Given the description of an element on the screen output the (x, y) to click on. 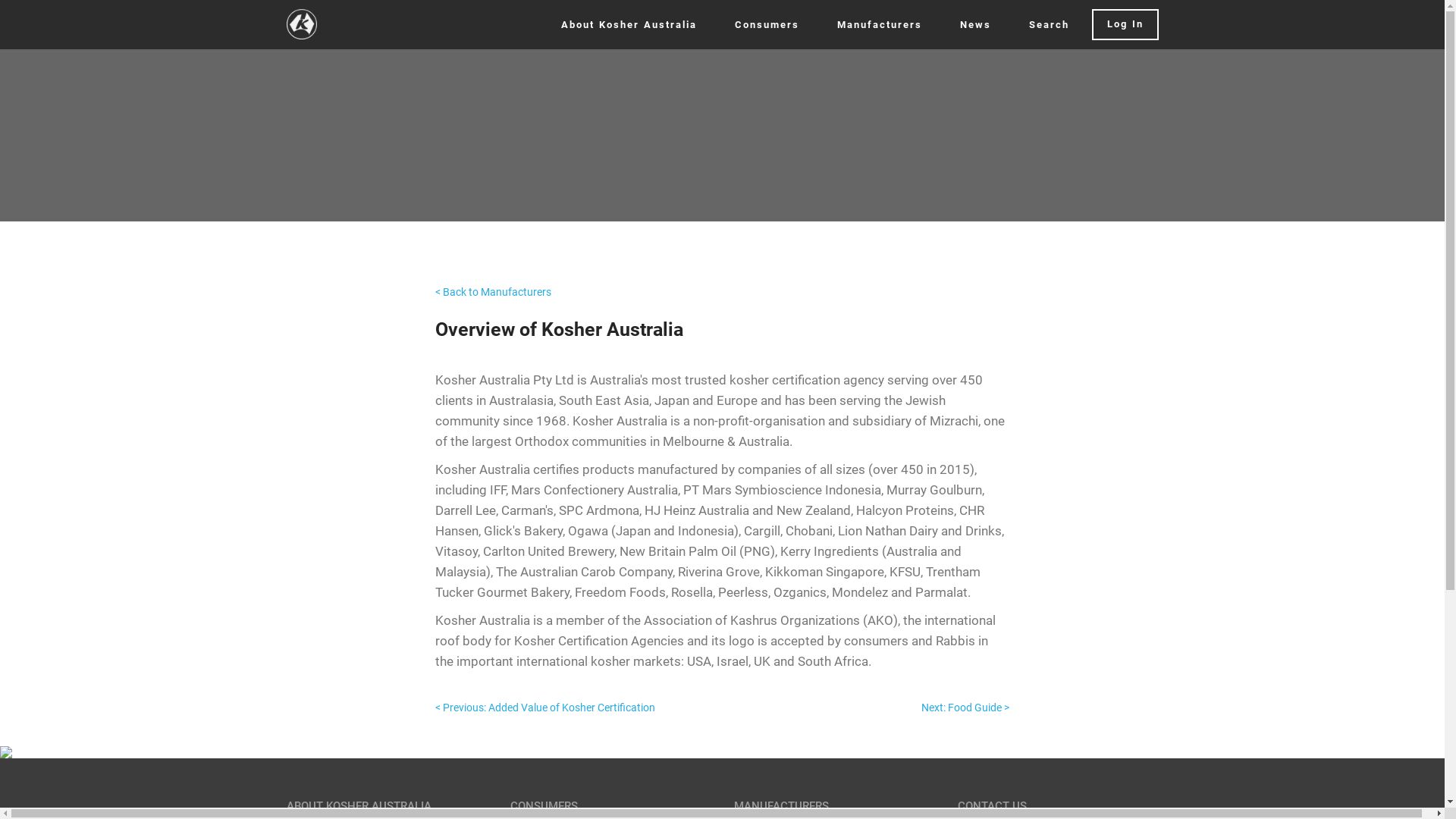
Consumers Element type: text (765, 24)
About Kosher Australia Element type: text (629, 24)
Manufacturers Element type: text (879, 24)
News Element type: text (975, 24)
Next: Food Guide > Element type: text (965, 706)
Search Element type: text (1048, 24)
Log In Element type: text (1125, 24)
< Previous: Added Value of Kosher Certification Element type: text (545, 706)
< Back to Manufacturers Element type: text (493, 291)
